Given the description of an element on the screen output the (x, y) to click on. 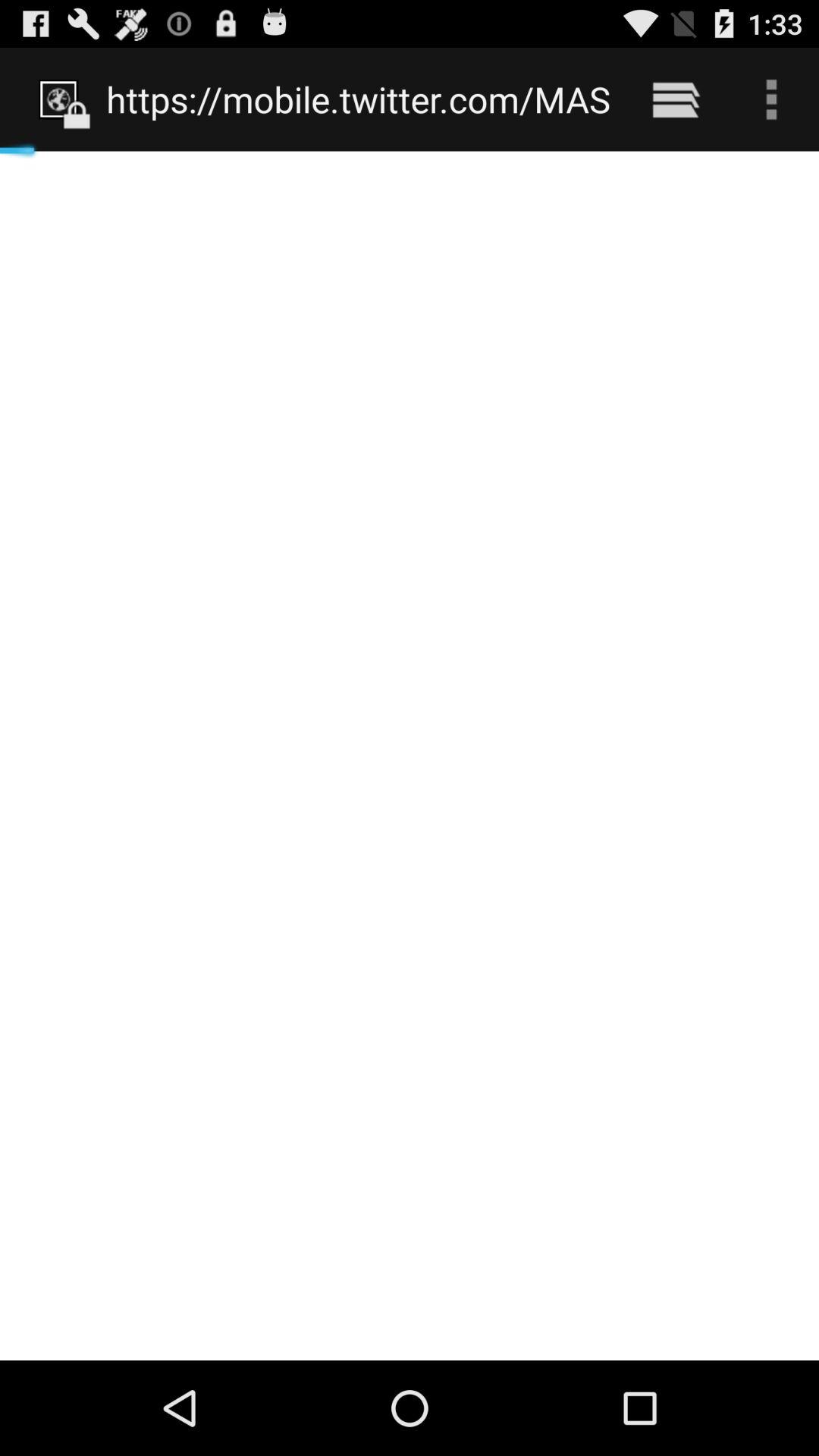
flip until https mobile twitter item (357, 99)
